Given the description of an element on the screen output the (x, y) to click on. 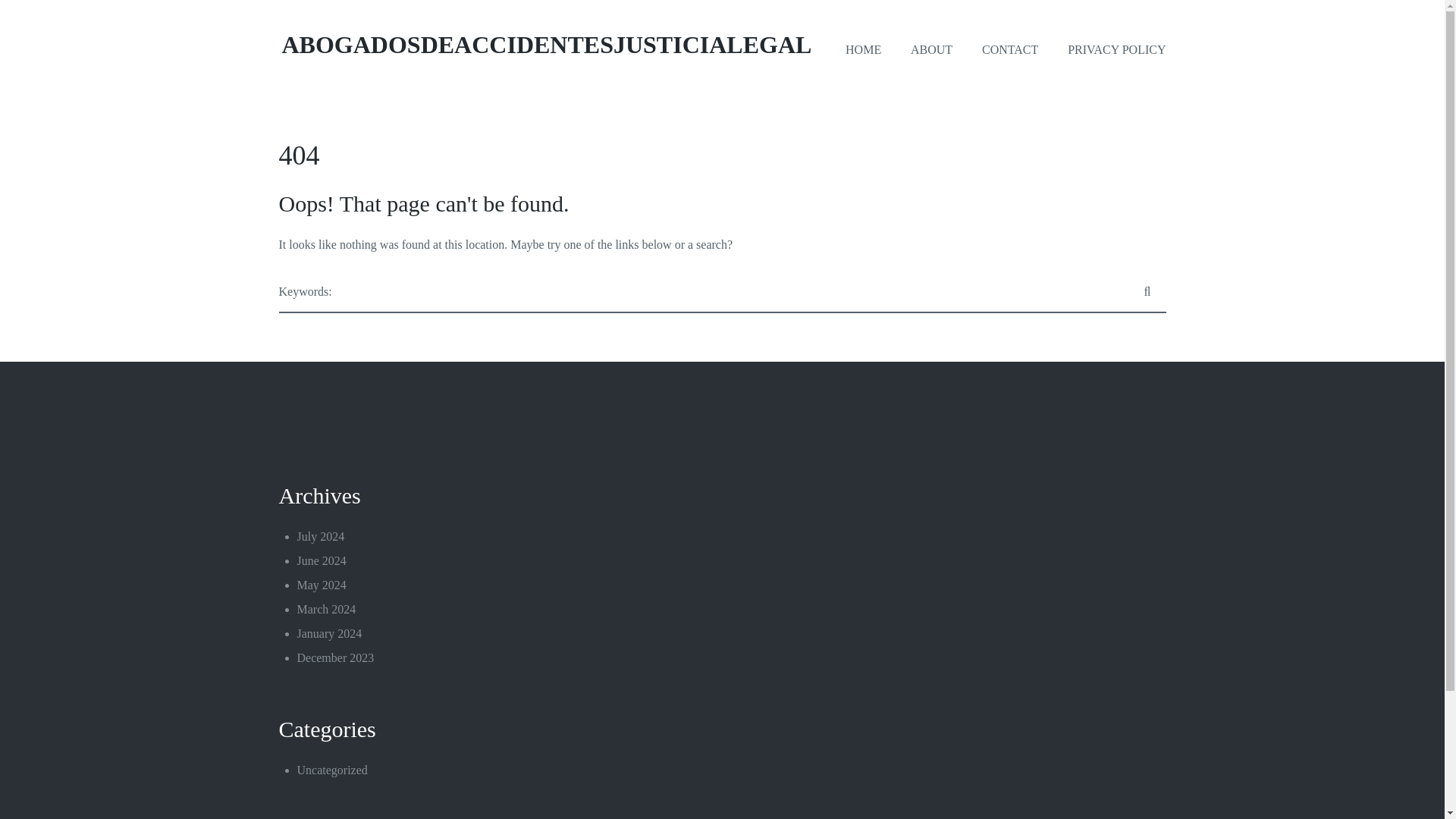
December 2023 (335, 657)
June 2024 (321, 560)
abogadosdeaccidentesjusticialegal (545, 43)
ABOGADOSDEACCIDENTESJUSTICIALEGAL (545, 43)
Search for: (722, 291)
July 2024 (321, 535)
Uncategorized (332, 769)
May 2024 (321, 584)
March 2024 (326, 608)
January 2024 (329, 633)
PRIVACY POLICY (1116, 49)
CONTACT (1009, 49)
ABOUT (931, 49)
